Given the description of an element on the screen output the (x, y) to click on. 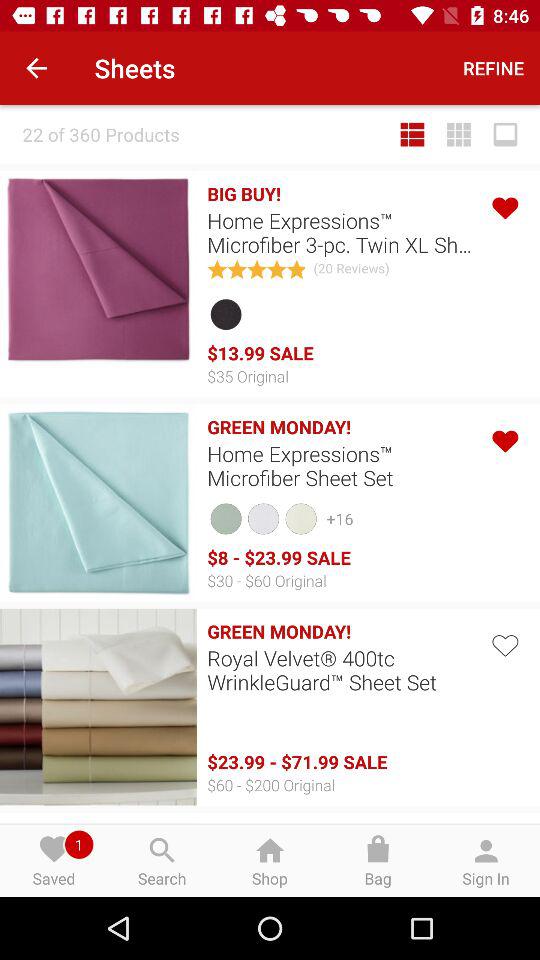
click the item below the refine icon (459, 134)
